Given the description of an element on the screen output the (x, y) to click on. 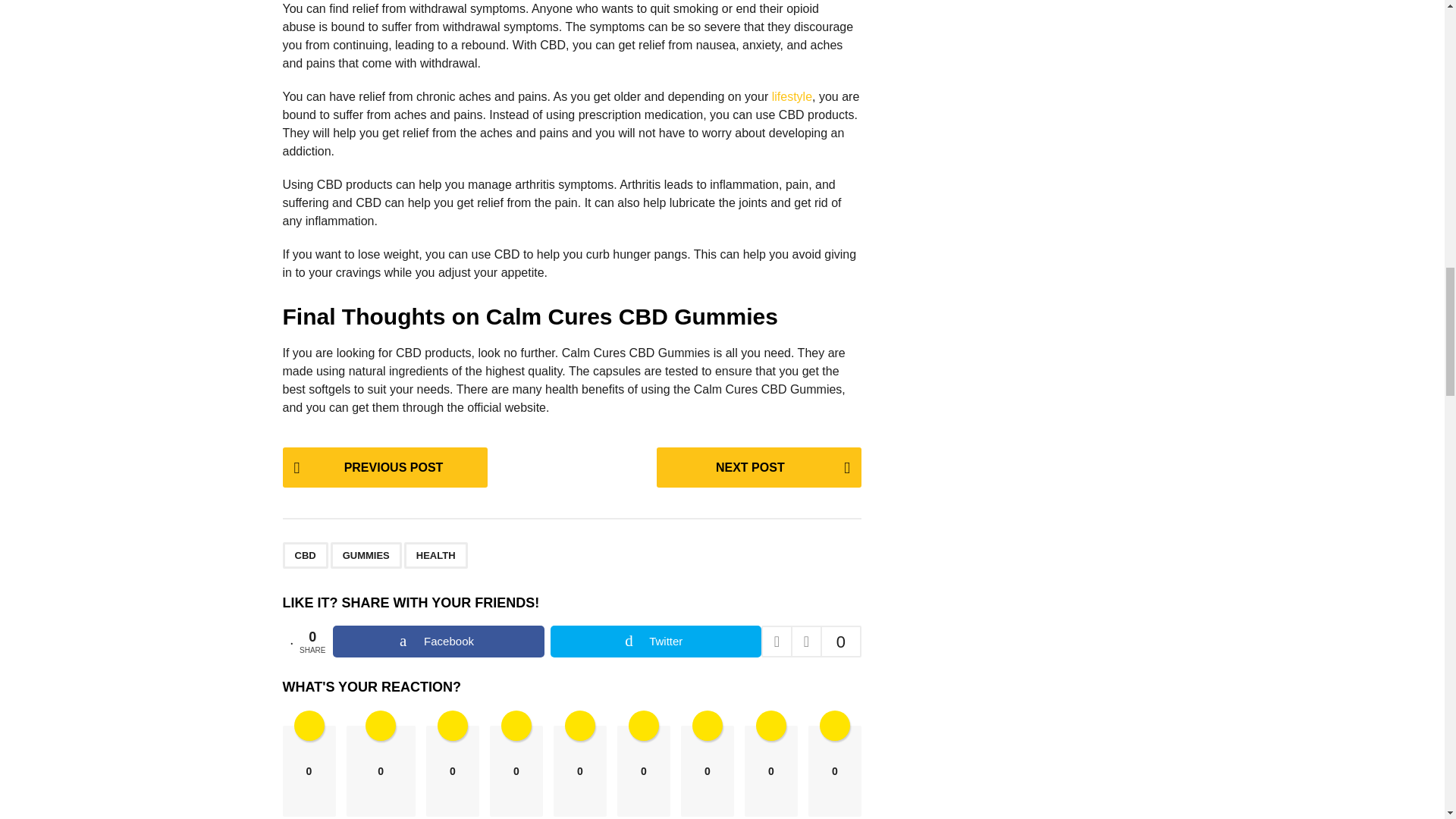
Share on Twitter (655, 641)
NEXT POST (758, 467)
lifestyle (791, 96)
PREVIOUS POST (384, 467)
CBD (304, 555)
Share on Facebook (438, 641)
